Given the description of an element on the screen output the (x, y) to click on. 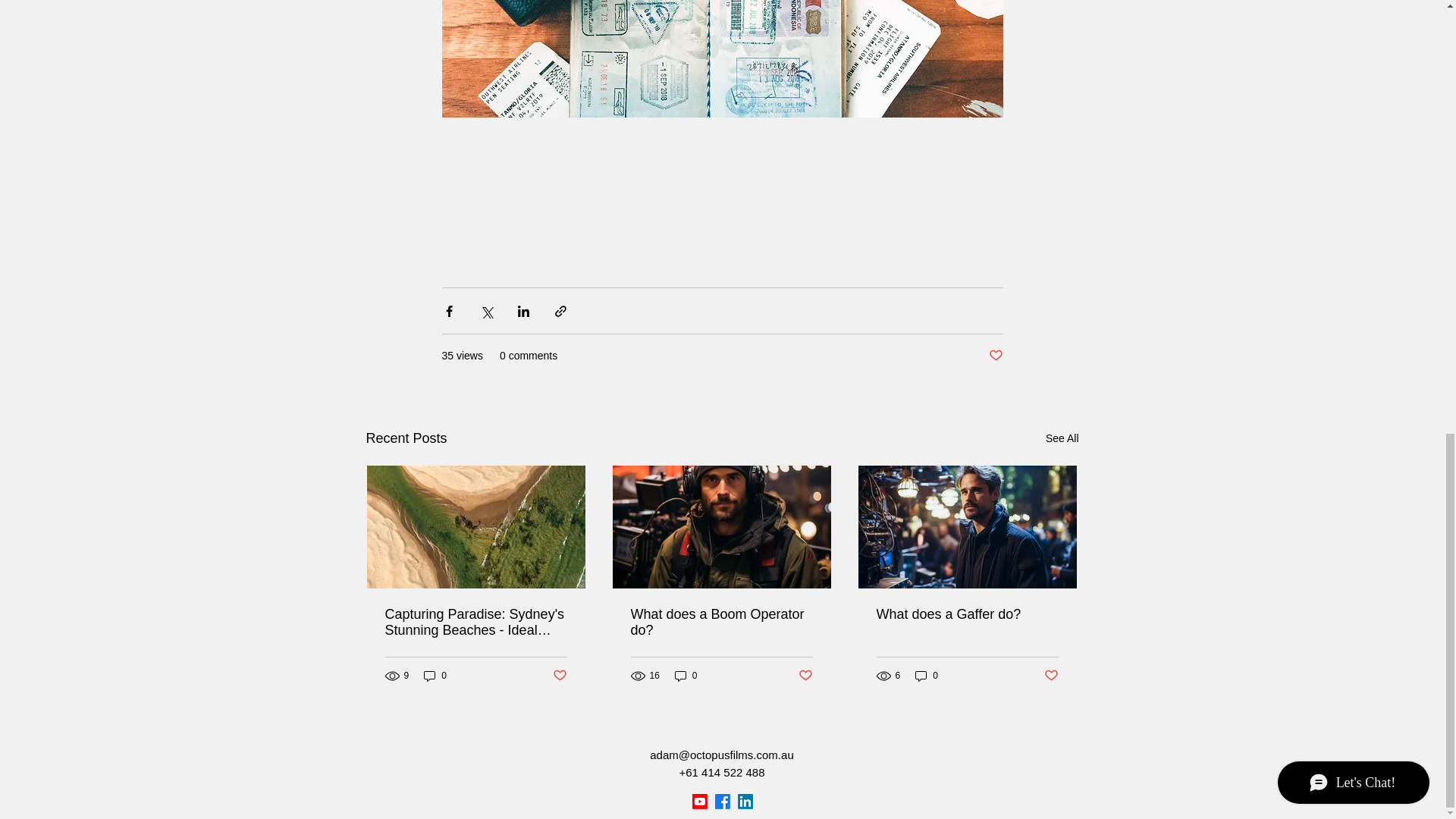
Post not marked as liked (1050, 675)
Post not marked as liked (995, 355)
0 (685, 676)
Post not marked as liked (558, 675)
Post not marked as liked (804, 675)
What does a Boom Operator do? (721, 622)
What does a Gaffer do? (967, 614)
0 (435, 676)
0 (926, 676)
See All (1061, 438)
